Given the description of an element on the screen output the (x, y) to click on. 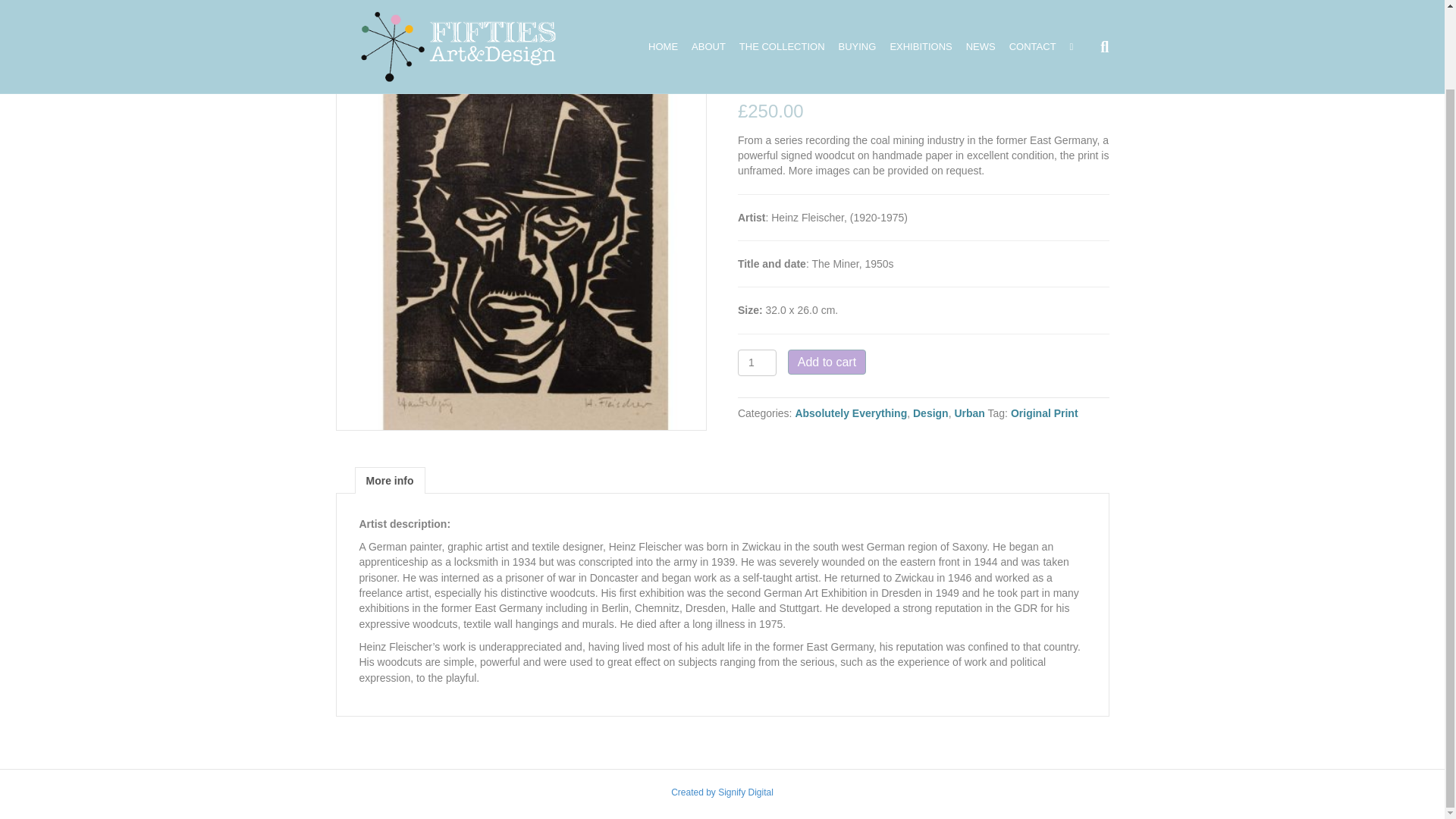
Original Print (1044, 413)
Created by Signify Digital (721, 797)
Add to cart (826, 361)
Urban (382, 41)
1 (757, 362)
Design (930, 413)
Absolutely Everything (850, 413)
Urban (968, 413)
More info (389, 480)
